Given the description of an element on the screen output the (x, y) to click on. 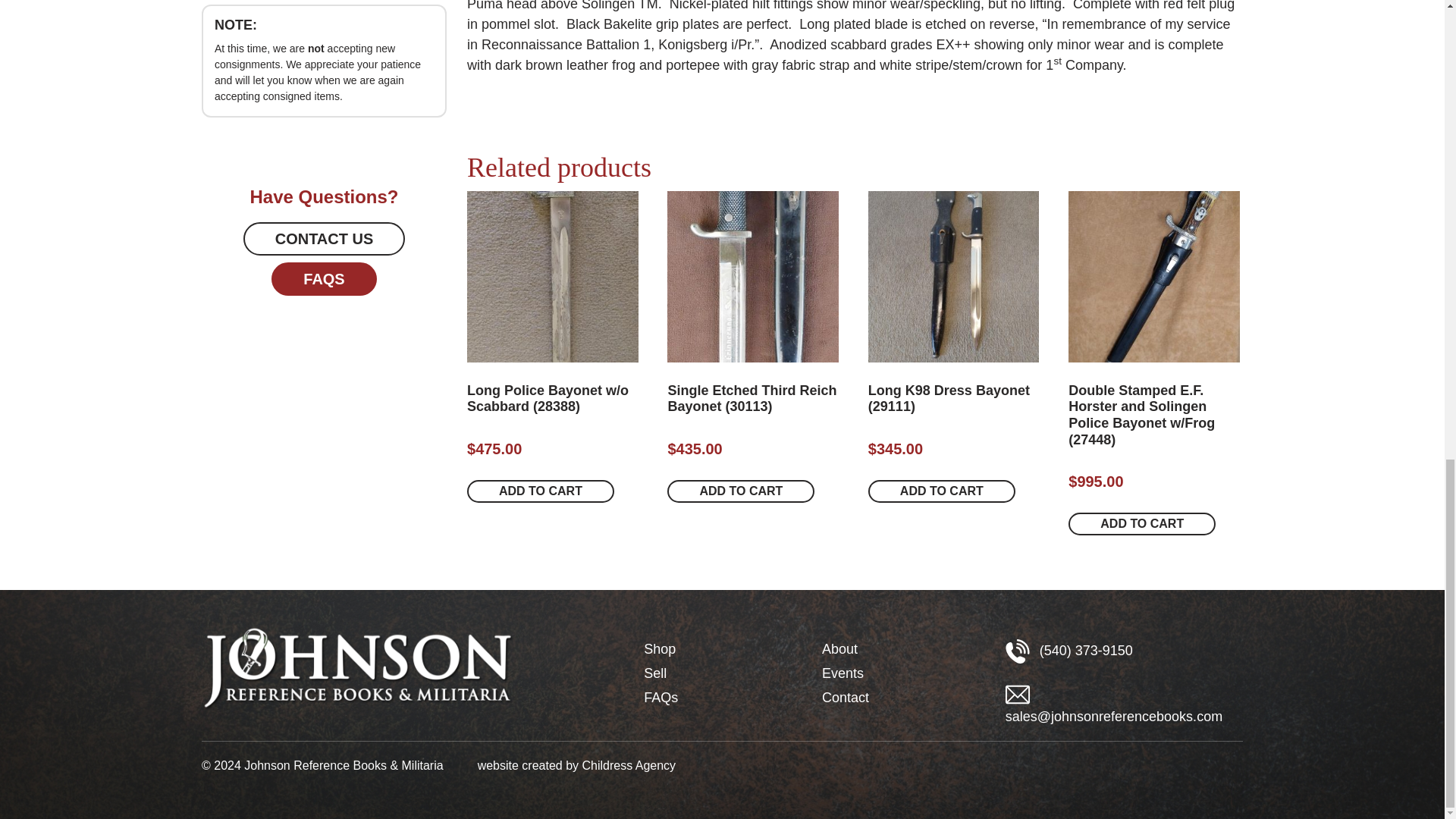
ADD TO CART (540, 490)
